Given the description of an element on the screen output the (x, y) to click on. 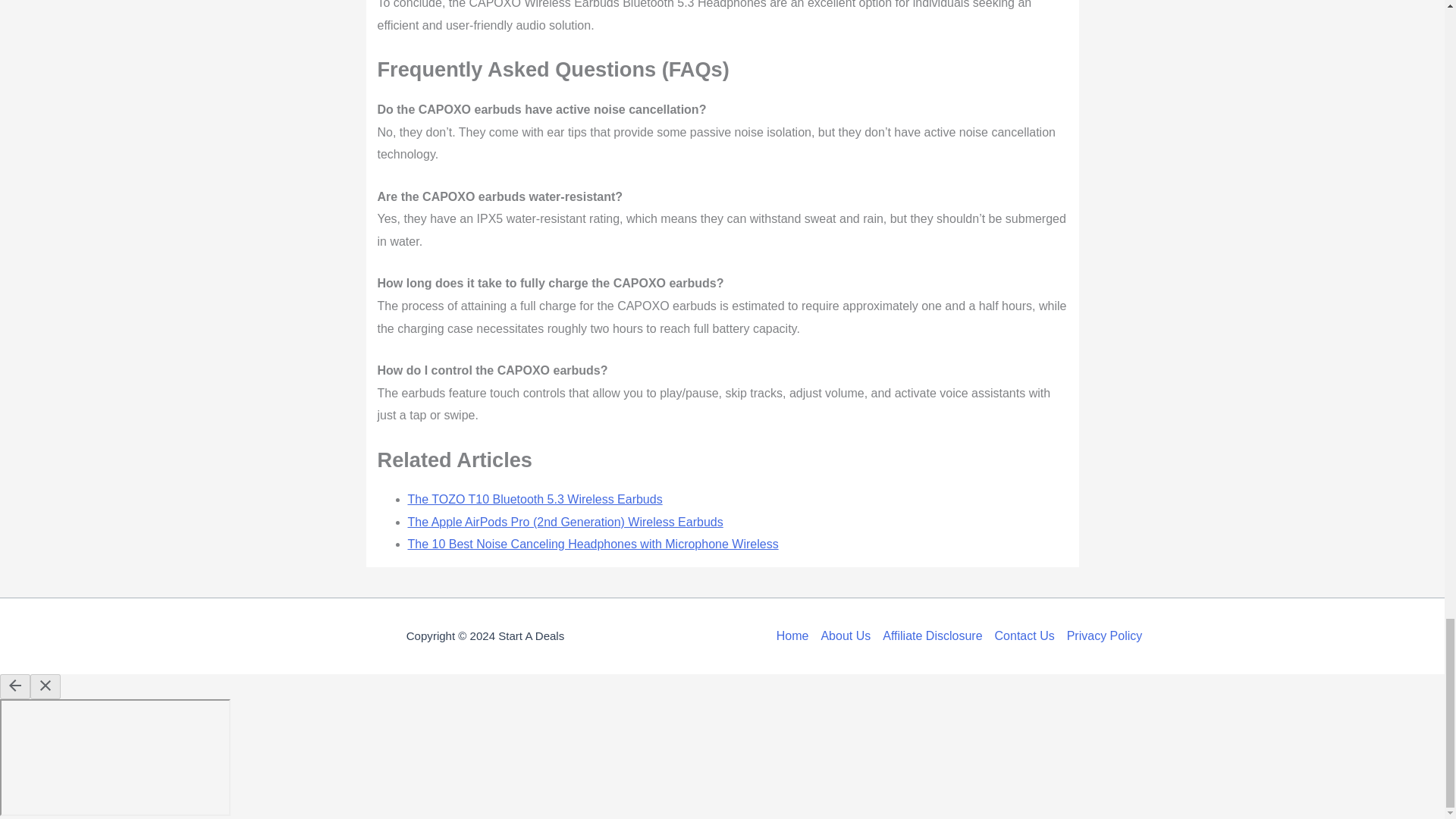
Contact Us (1024, 635)
Privacy Policy (1101, 635)
Affiliate Disclosure (932, 635)
About Us (844, 635)
The TOZO T10 Bluetooth 5.3 Wireless Earbuds (534, 499)
Home (795, 635)
